Given the description of an element on the screen output the (x, y) to click on. 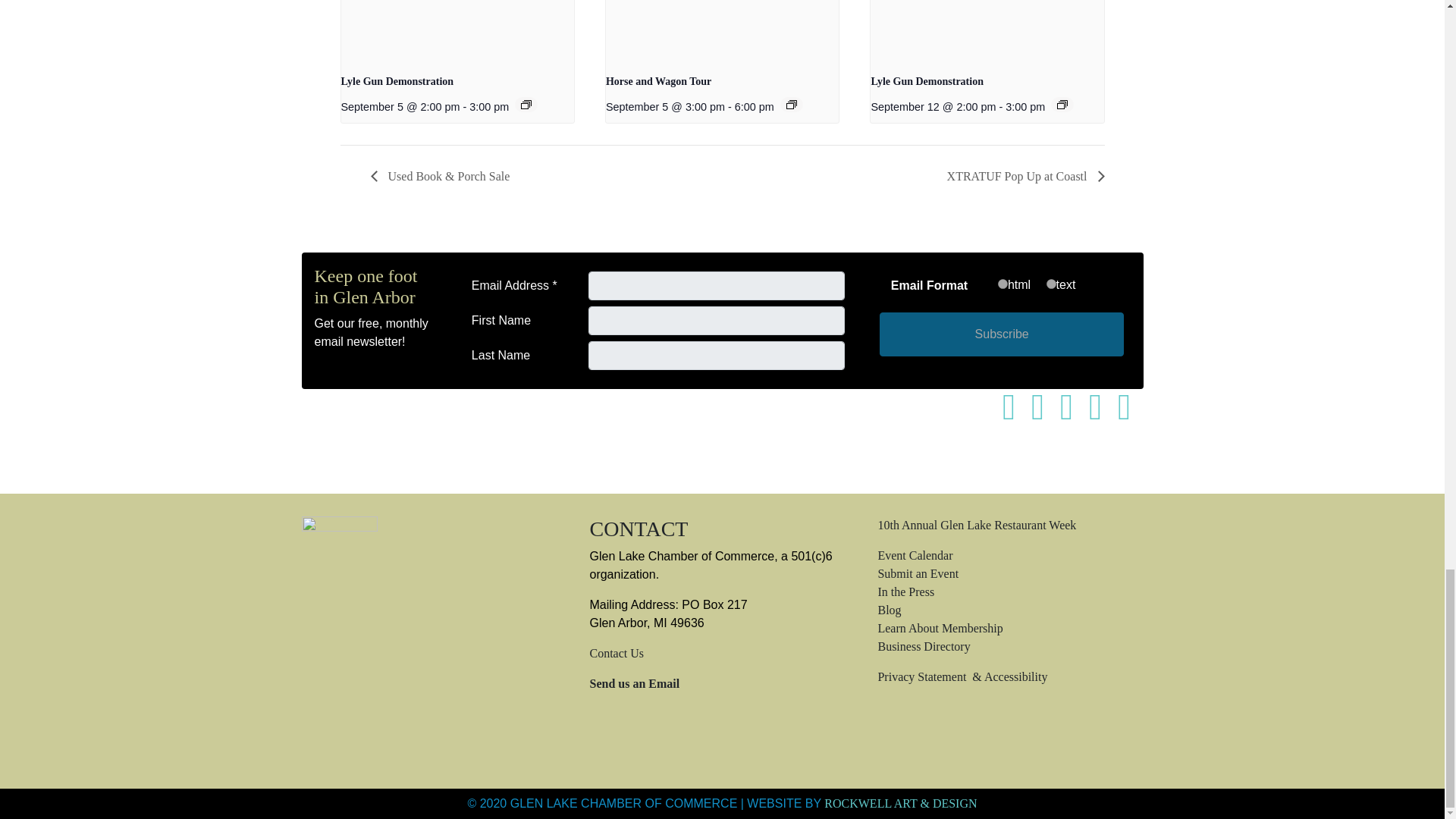
html (1002, 284)
Subscribe (1001, 334)
text (1051, 284)
